Given the description of an element on the screen output the (x, y) to click on. 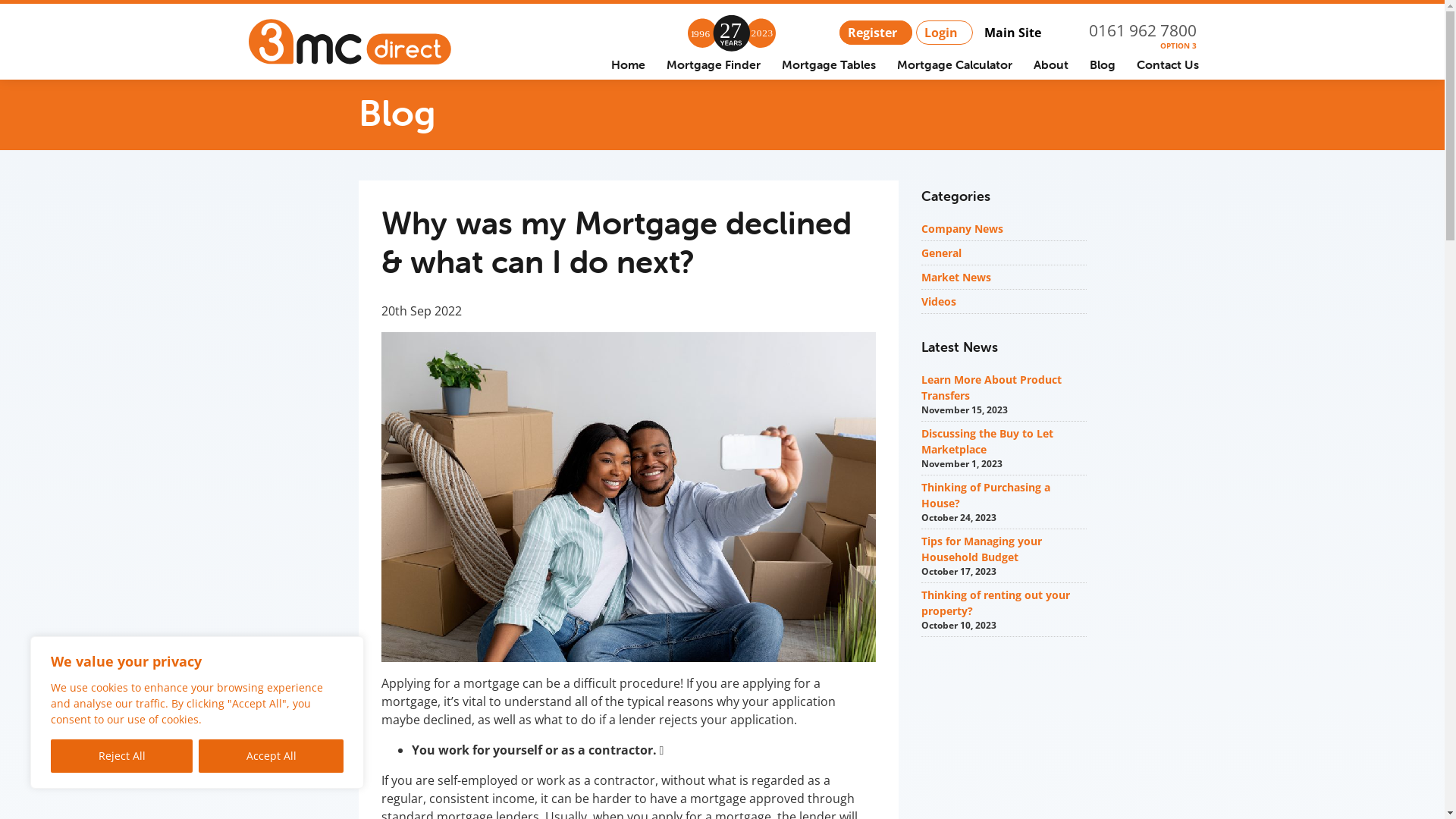
Home Element type: text (628, 64)
Learn More About Product Transfers Element type: text (991, 387)
Blog Element type: text (1101, 64)
Thinking of Purchasing a House? Element type: text (985, 495)
Market News Element type: text (956, 276)
Reject All Element type: text (121, 755)
Company News Element type: text (962, 228)
0161 962 7800
OPTION 3 Element type: text (1142, 30)
Mortgage Calculator Element type: text (953, 64)
Accept All Element type: text (270, 755)
Videos Element type: text (938, 301)
Mortgage Tables Element type: text (827, 64)
Main Site Element type: text (1014, 32)
Discussing the Buy to Let Marketplace Element type: text (987, 441)
Tips for Managing your Household Budget Element type: text (981, 548)
Contact Us Element type: text (1166, 64)
Register Element type: text (874, 32)
Thinking of renting out your property? Element type: text (995, 602)
About Element type: text (1049, 64)
Login Element type: text (944, 32)
General Element type: text (941, 252)
Mortgage Finder Element type: text (712, 64)
